Given the description of an element on the screen output the (x, y) to click on. 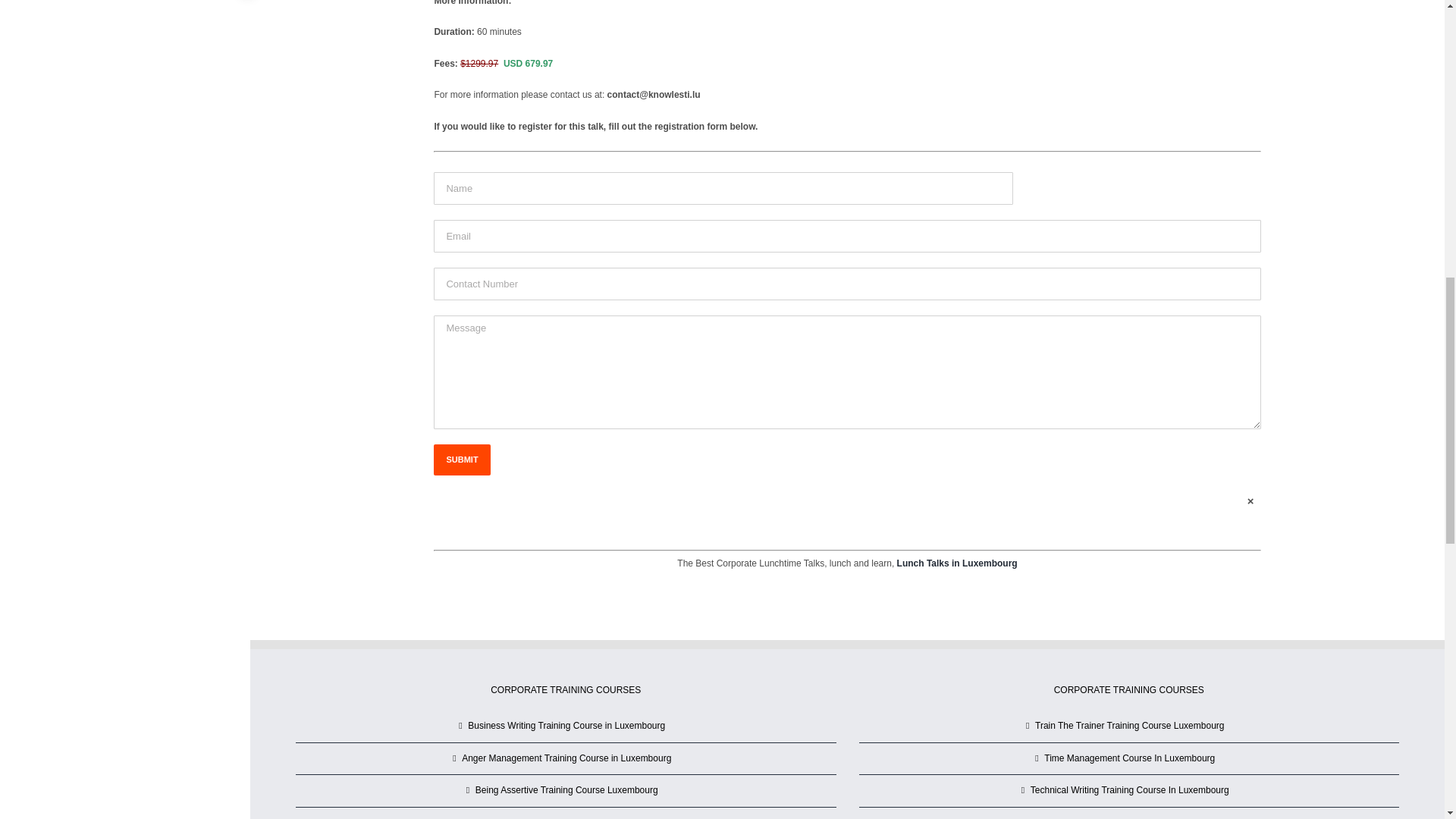
Technical Writing Training Course In Luxembourg (1129, 790)
submit (461, 459)
Time Management Course In Luxembourg (1129, 759)
Being Assertive Training Course Luxembourg (566, 790)
Train The Trainer Training Course Luxembourg (1129, 726)
submit (461, 459)
Lunch Talks in Luxembourg (956, 562)
Anger Management Training Course in Luxembourg (566, 759)
